Given the description of an element on the screen output the (x, y) to click on. 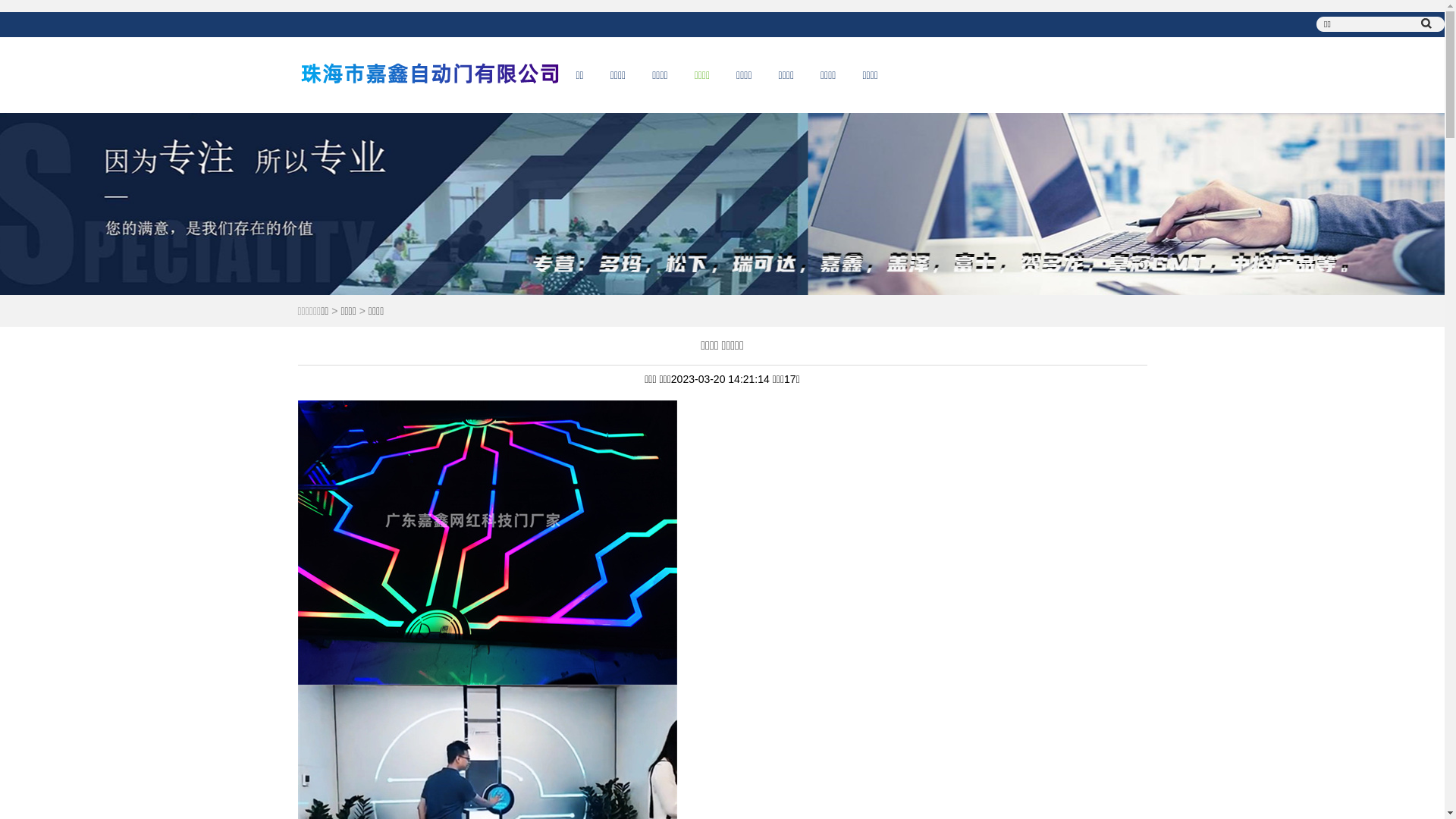
1679293290487636.jpg Element type: hover (486, 542)
